Given the description of an element on the screen output the (x, y) to click on. 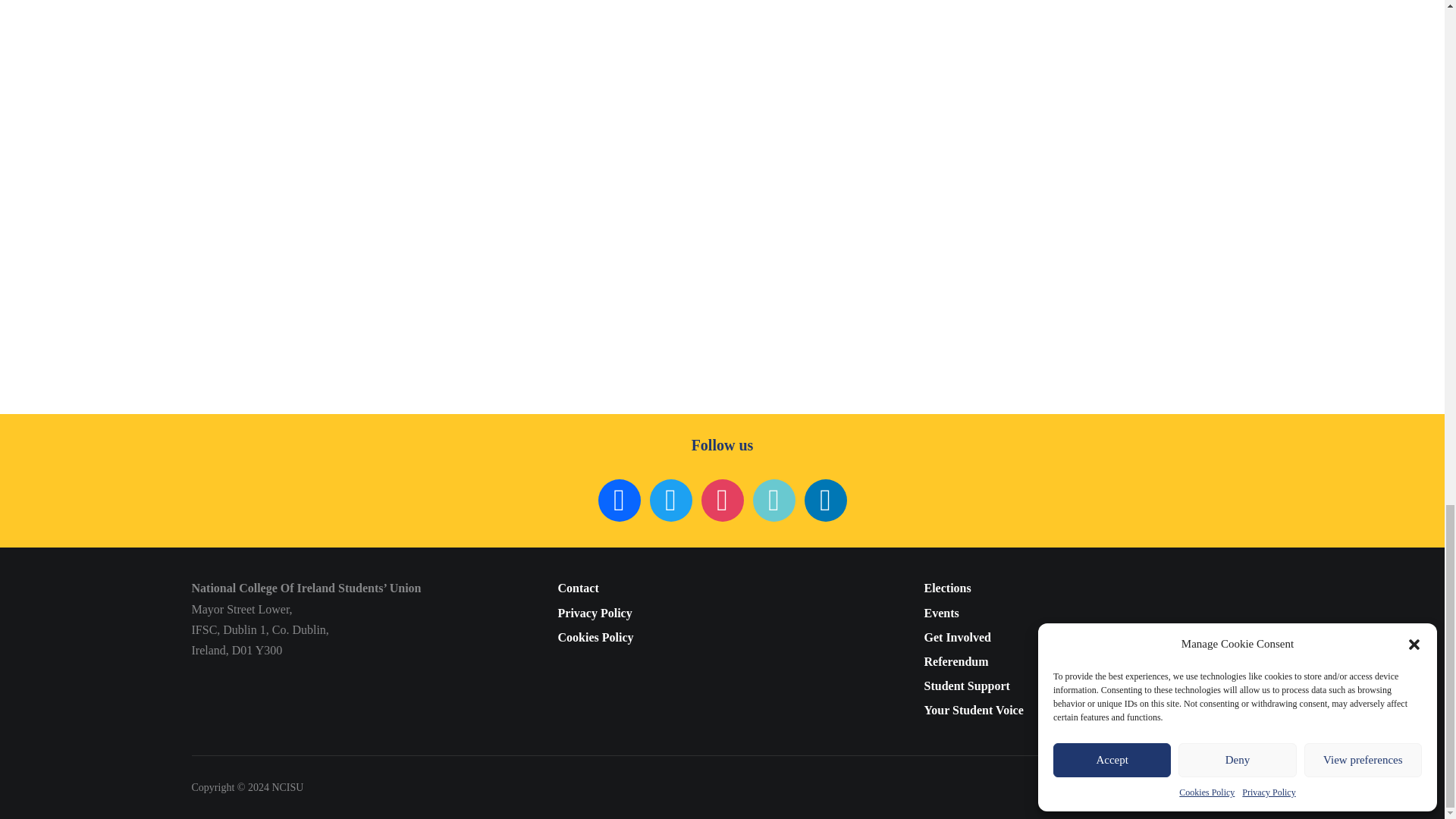
Instagram (721, 499)
Facebook (618, 499)
Twitter (670, 499)
